Given the description of an element on the screen output the (x, y) to click on. 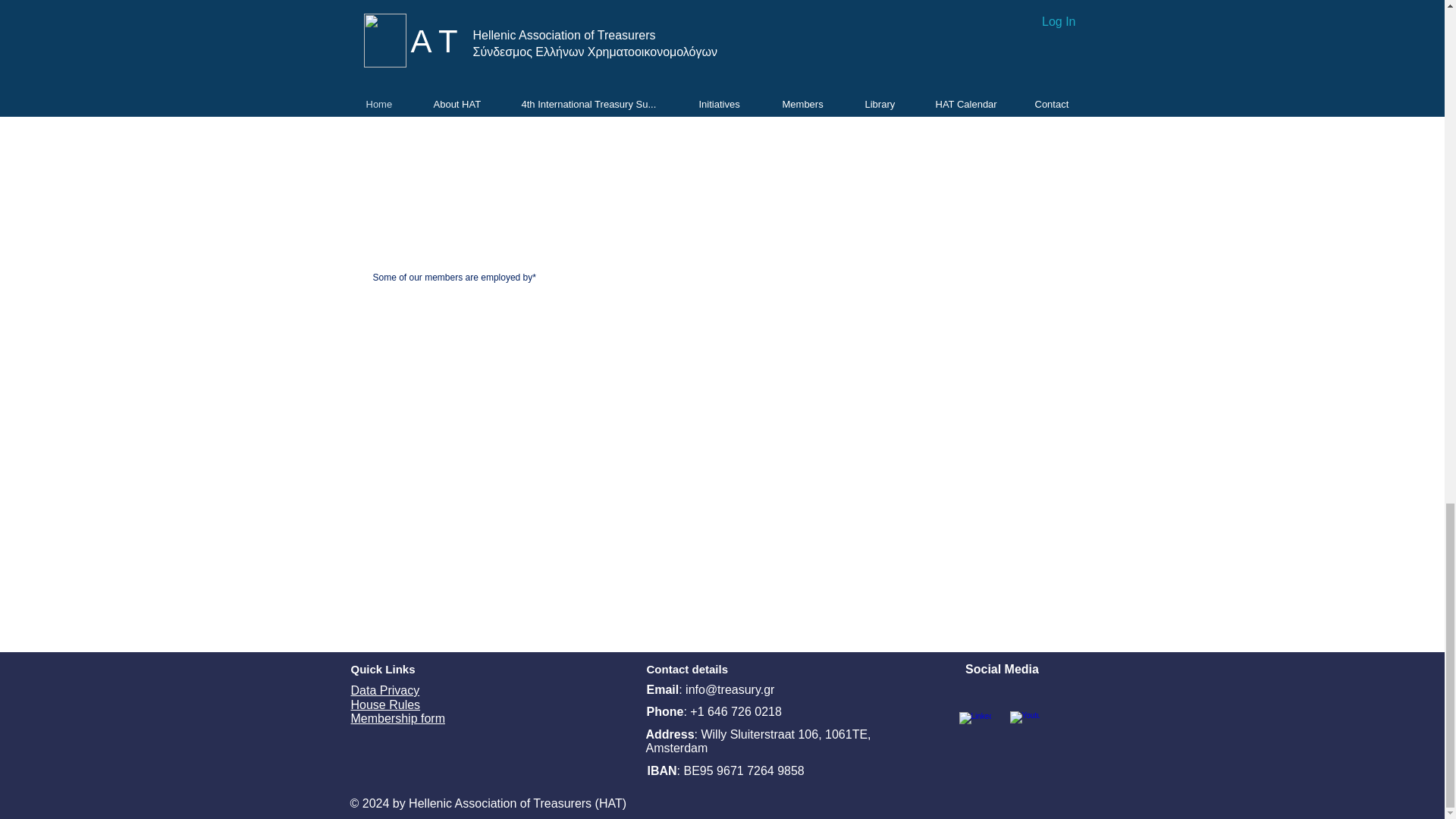
Data Privacy (384, 689)
House Rules (385, 704)
Membership form (397, 717)
